Given the description of an element on the screen output the (x, y) to click on. 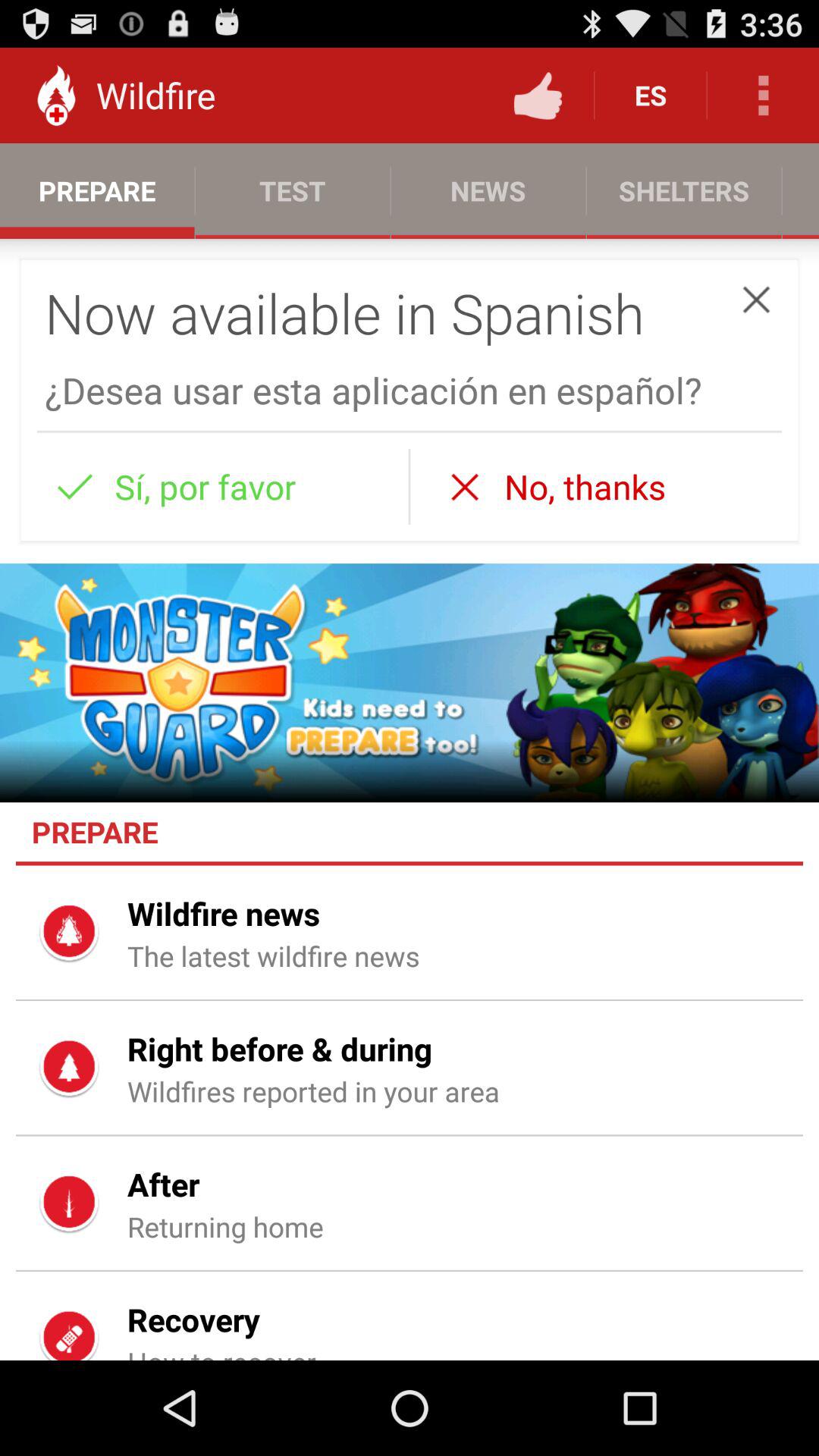
close button (755, 299)
